Given the description of an element on the screen output the (x, y) to click on. 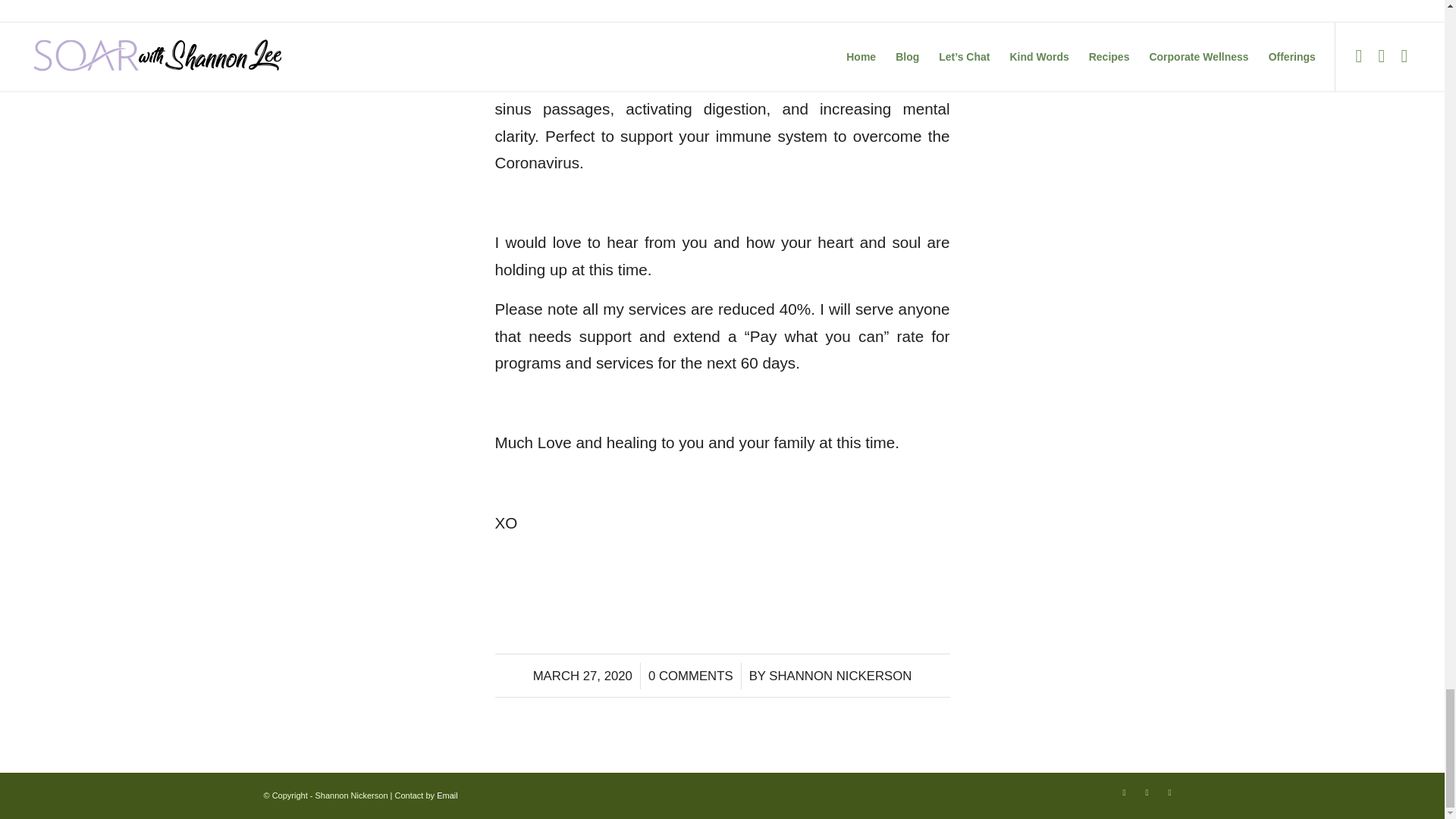
Instagram (1146, 792)
SHANNON NICKERSON (839, 676)
5-minute Ratna Prabha Mudra meditation (722, 68)
0 COMMENTS (690, 676)
Email (447, 795)
Facebook (1124, 792)
Mail (1169, 792)
Posts by Shannon Nickerson (839, 676)
